Given the description of an element on the screen output the (x, y) to click on. 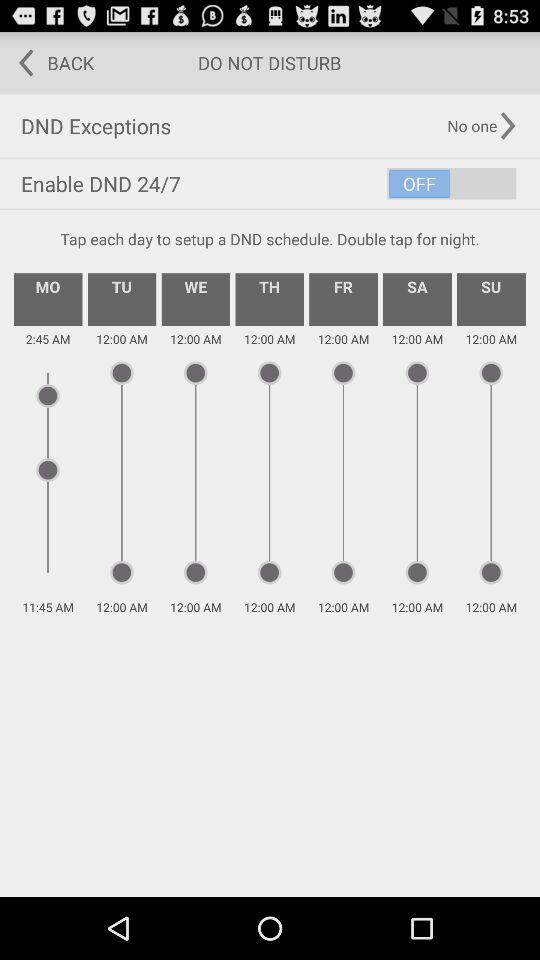
swipe until enable dnd 24 (270, 183)
